Given the description of an element on the screen output the (x, y) to click on. 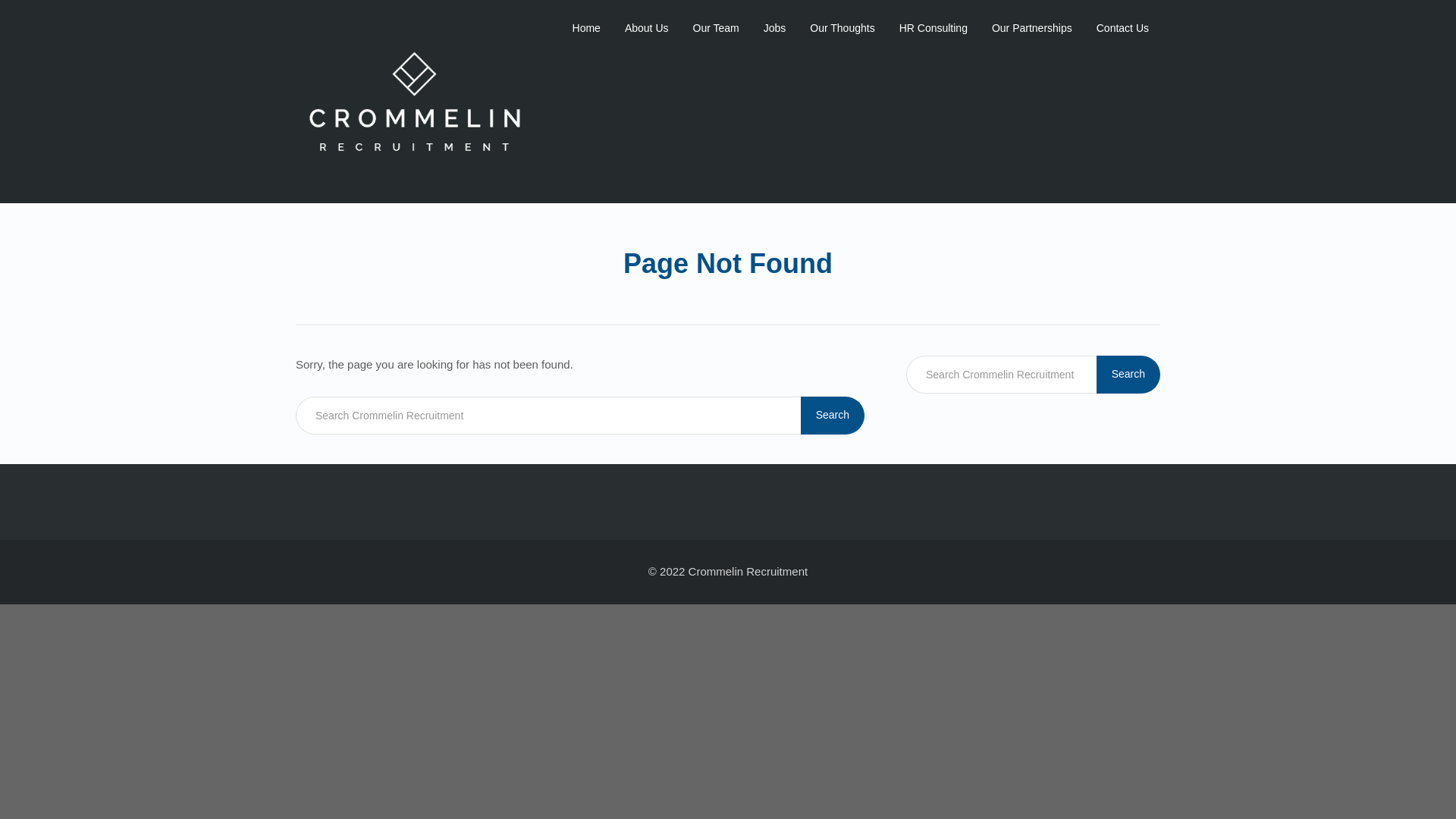
HR Consulting (933, 27)
Search (832, 415)
Our Team (716, 27)
Contact Us (1122, 27)
About Us (646, 27)
Search (1128, 374)
Our Thoughts (842, 27)
Our Partnerships (1031, 27)
